Given the description of an element on the screen output the (x, y) to click on. 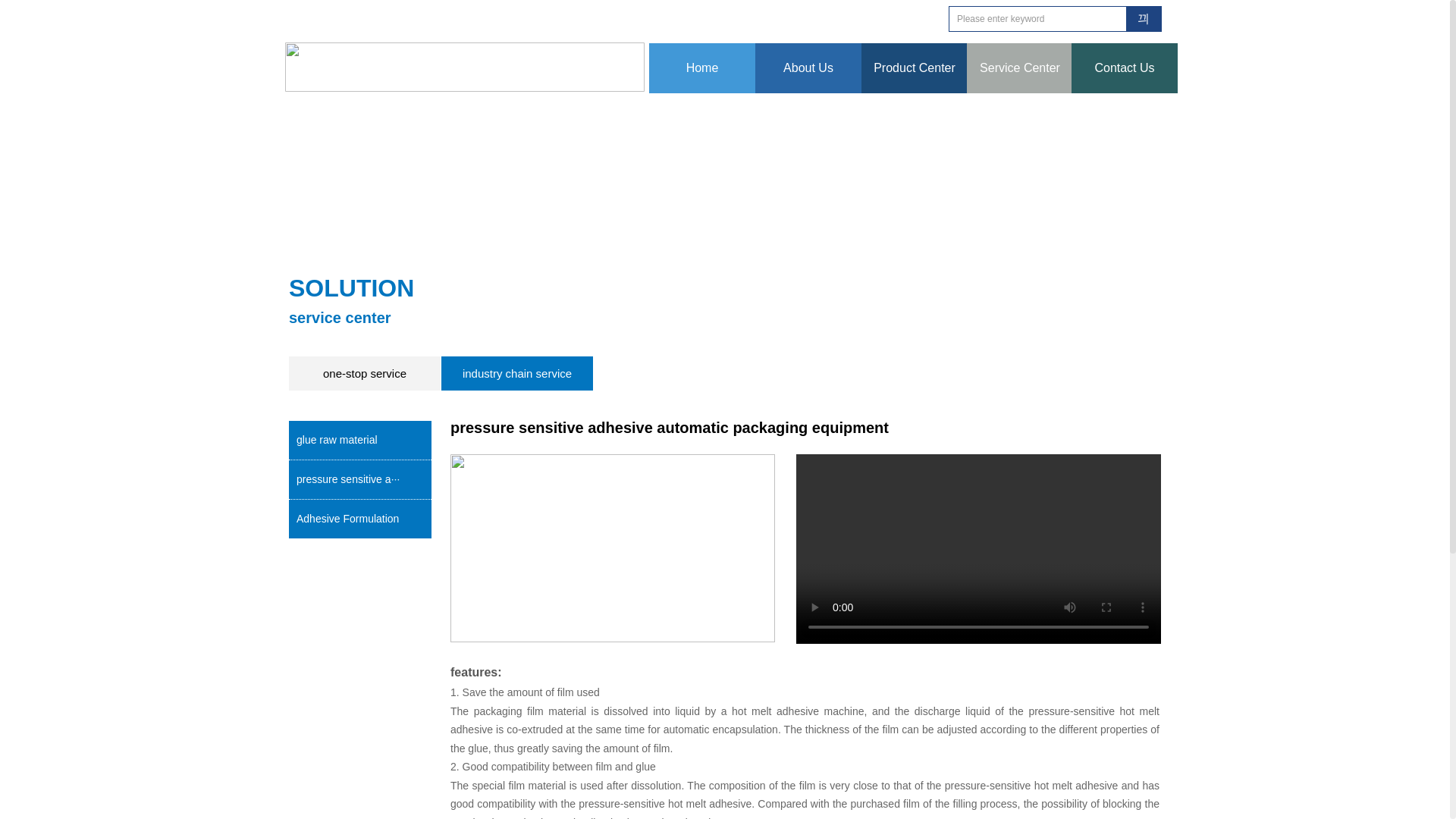
Contact Us (1124, 68)
Product Center (914, 68)
Home (702, 68)
Service Center (1019, 68)
glue raw material (359, 439)
pressure sensitive adhesive automatic packaging equipment (359, 478)
industry chain service (516, 373)
one-stop service (364, 373)
Adhesive Formulation (359, 518)
About Us (808, 68)
